Given the description of an element on the screen output the (x, y) to click on. 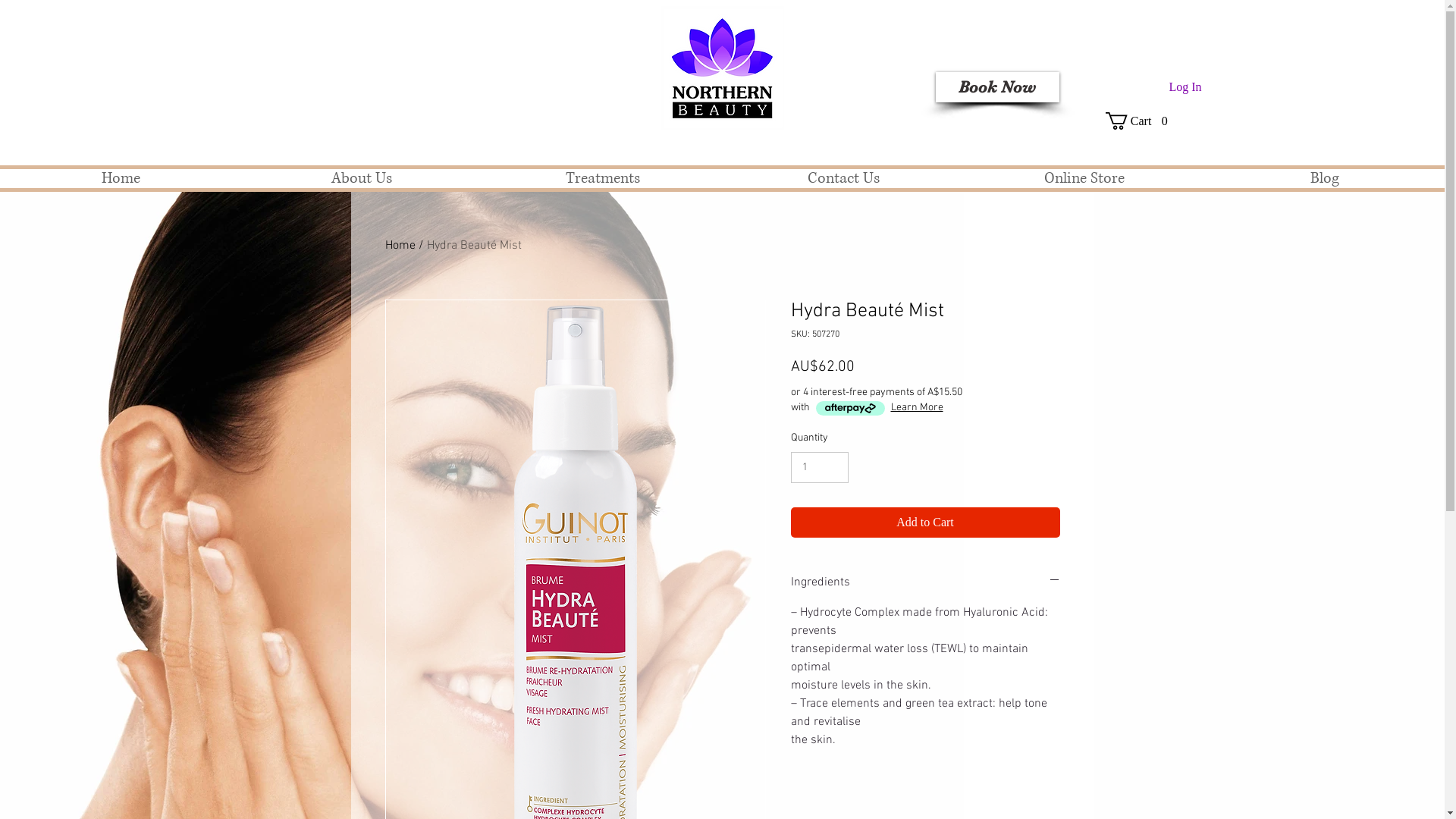
Online Store Element type: text (1083, 178)
Add to Cart Element type: text (924, 522)
Cart
0 Element type: text (1140, 120)
About Us Element type: text (361, 178)
Learn More Element type: text (916, 407)
Home Element type: text (120, 178)
Ingredients Element type: text (924, 582)
Contact Us Element type: text (843, 178)
Log In Element type: text (1184, 87)
Home Element type: text (400, 245)
Blog Element type: text (1324, 178)
Book Now Element type: text (997, 87)
